Given the description of an element on the screen output the (x, y) to click on. 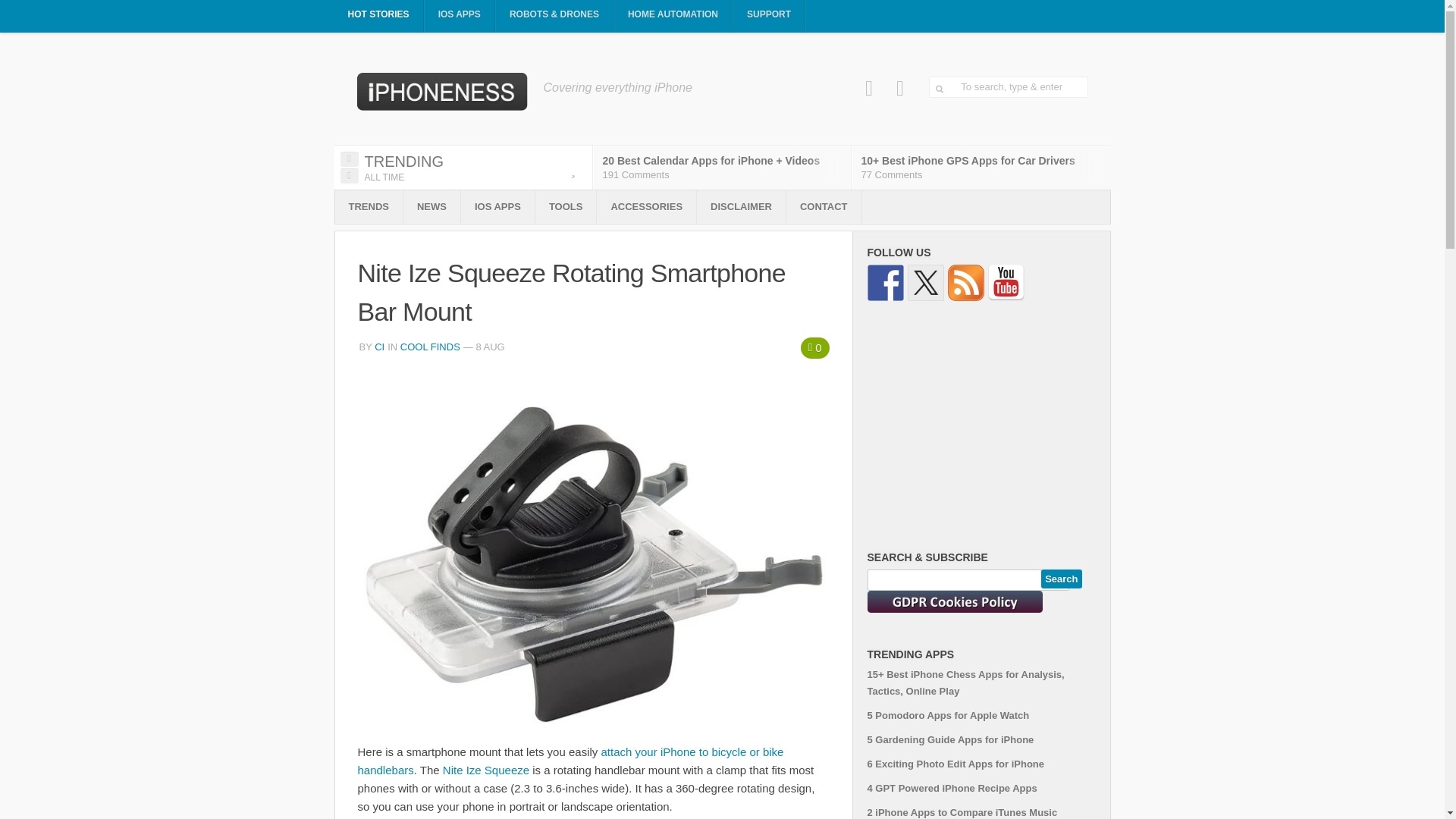
HOME AUTOMATION (673, 16)
Search (1061, 578)
TRENDS (368, 206)
NEWS (431, 206)
Pinterest (900, 87)
IOS APPS (460, 16)
SUPPORT (769, 16)
HOT STORIES (377, 16)
Facebook (869, 87)
